Given the description of an element on the screen output the (x, y) to click on. 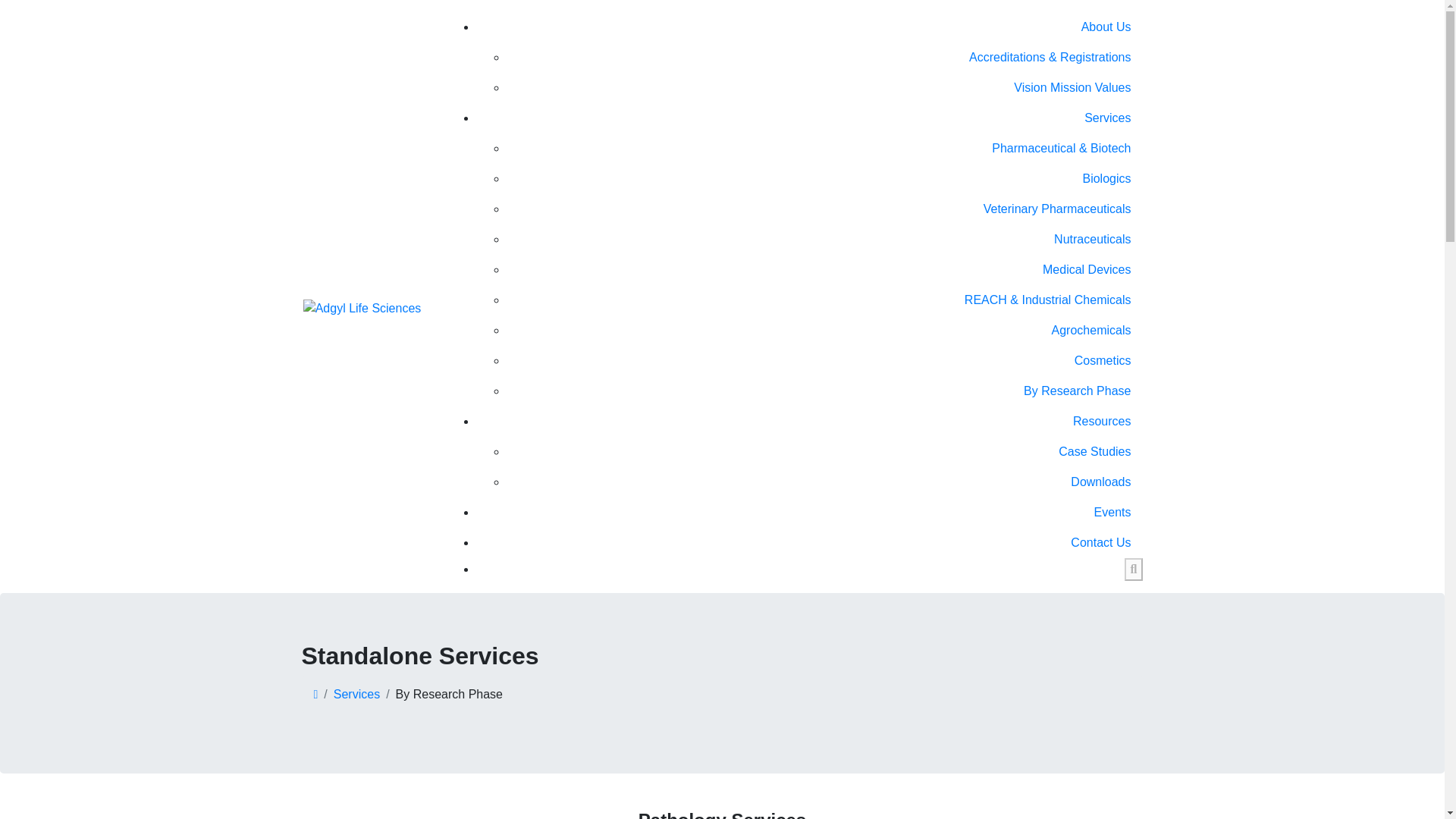
Resources (809, 421)
Services (356, 694)
By Research Phase (824, 390)
Adgyl Life Sciences (362, 308)
Contact Us (809, 542)
Medical Devices (824, 269)
Events (809, 512)
Biologics (824, 178)
Vision Mission Values (824, 87)
Nutraceuticals (824, 239)
